Given the description of an element on the screen output the (x, y) to click on. 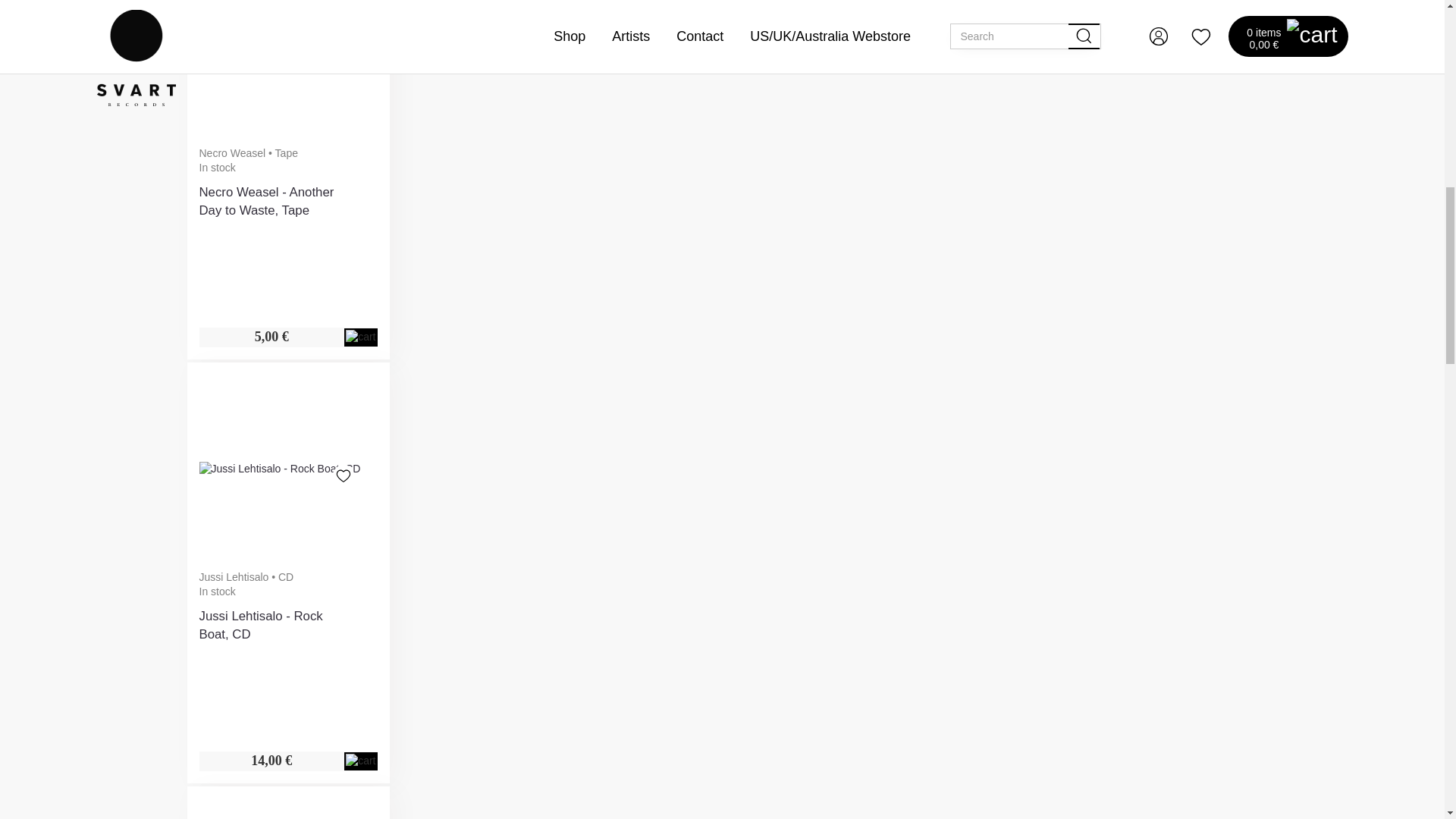
cart (360, 761)
cart (360, 337)
Jussi Lehtisalo - Rock Boat, CD (278, 468)
Necro Weasel - Another Day to Waste, Tape (302, 45)
